Given the description of an element on the screen output the (x, y) to click on. 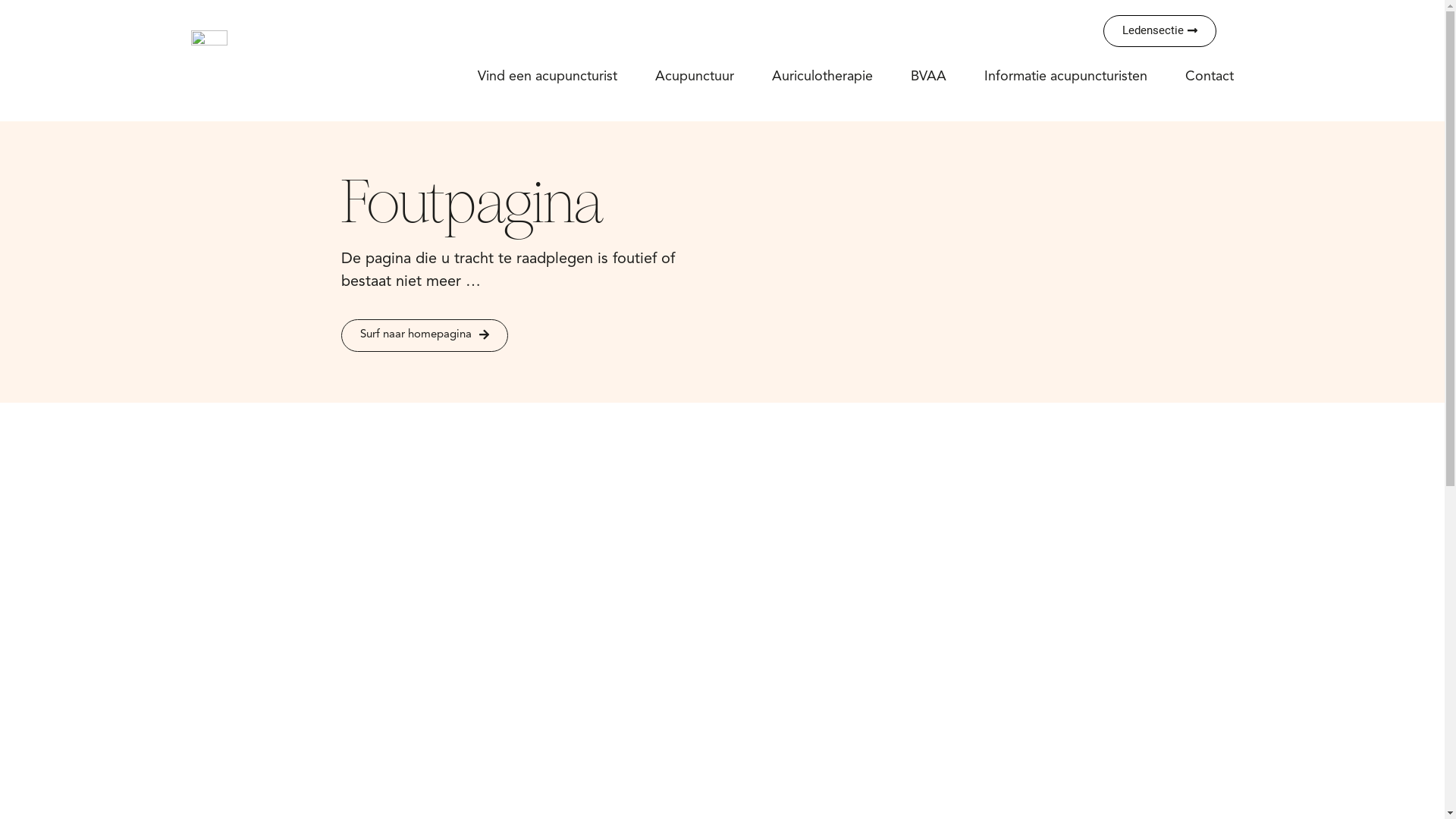
Auriculotherapie Element type: text (822, 76)
Ledensectie Element type: text (1159, 31)
Vind een acupuncturist Element type: text (547, 76)
Surf naar homepagina Element type: text (424, 335)
Acupunctuur Element type: text (694, 76)
BVAA Element type: text (928, 76)
Contact Element type: text (1209, 76)
Ontdek ons manifest Element type: text (181, 713)
Informatie acupuncturisten Element type: text (1065, 76)
